Given the description of an element on the screen output the (x, y) to click on. 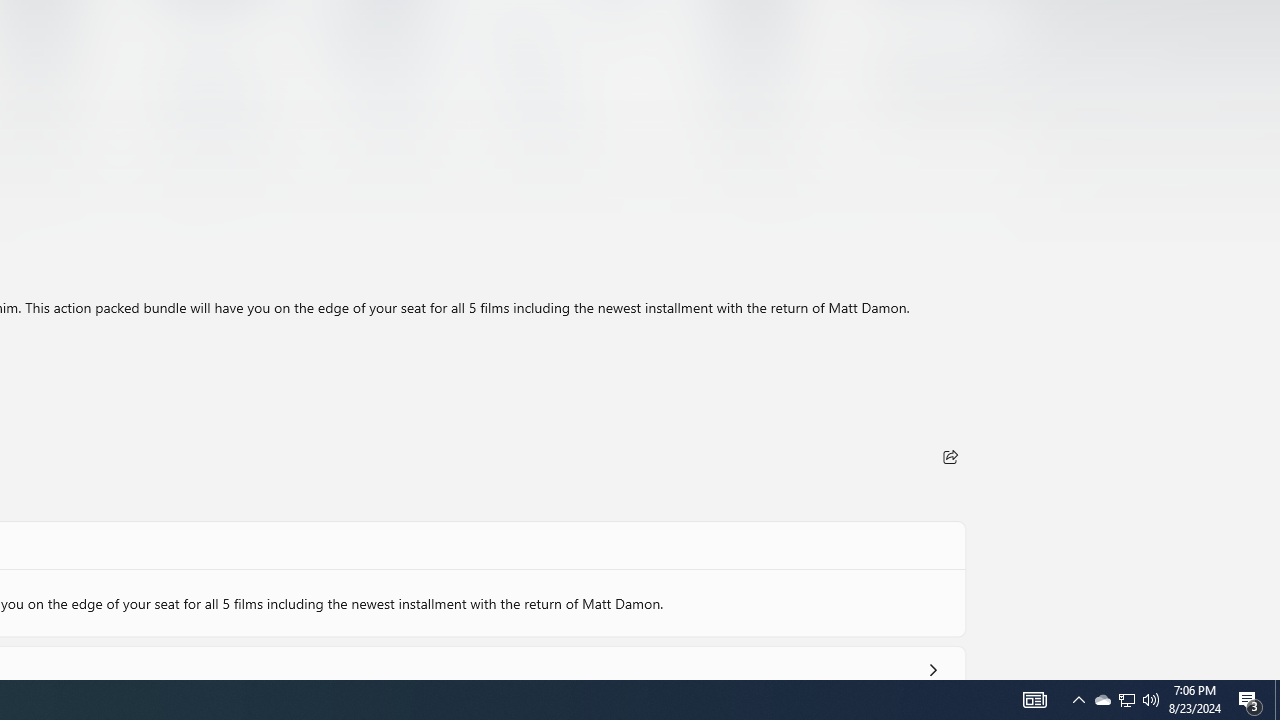
Show all ratings and reviews (932, 665)
Share (950, 456)
